Given the description of an element on the screen output the (x, y) to click on. 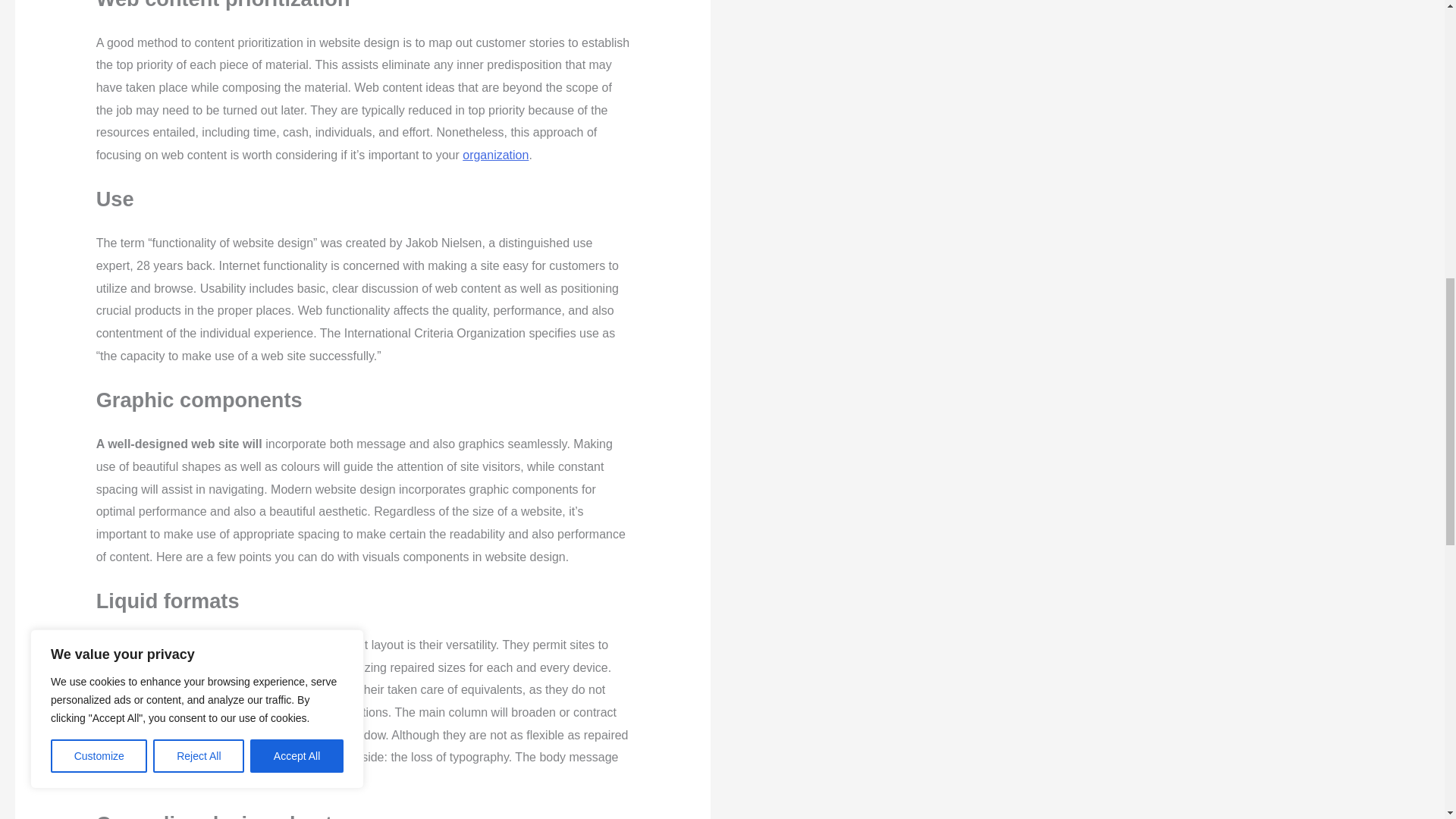
organization (495, 154)
